Given the description of an element on the screen output the (x, y) to click on. 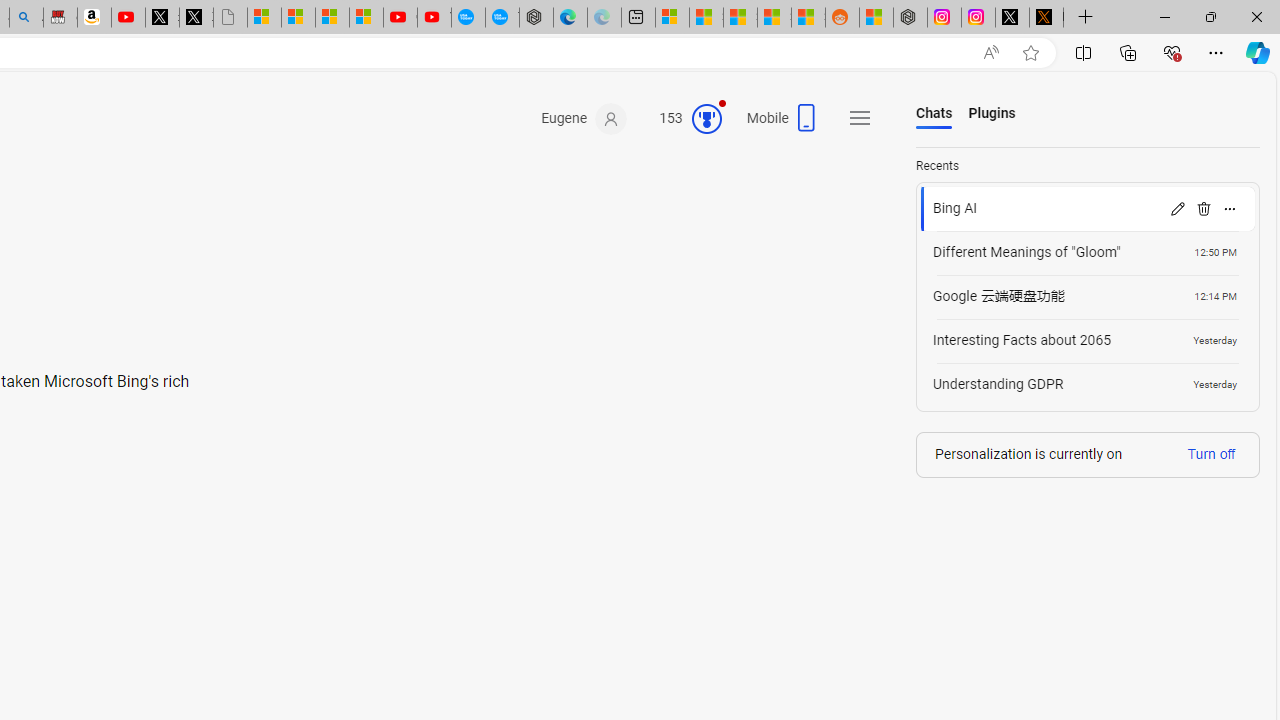
Log in to X / X (1012, 17)
Untitled (230, 17)
